Given the description of an element on the screen output the (x, y) to click on. 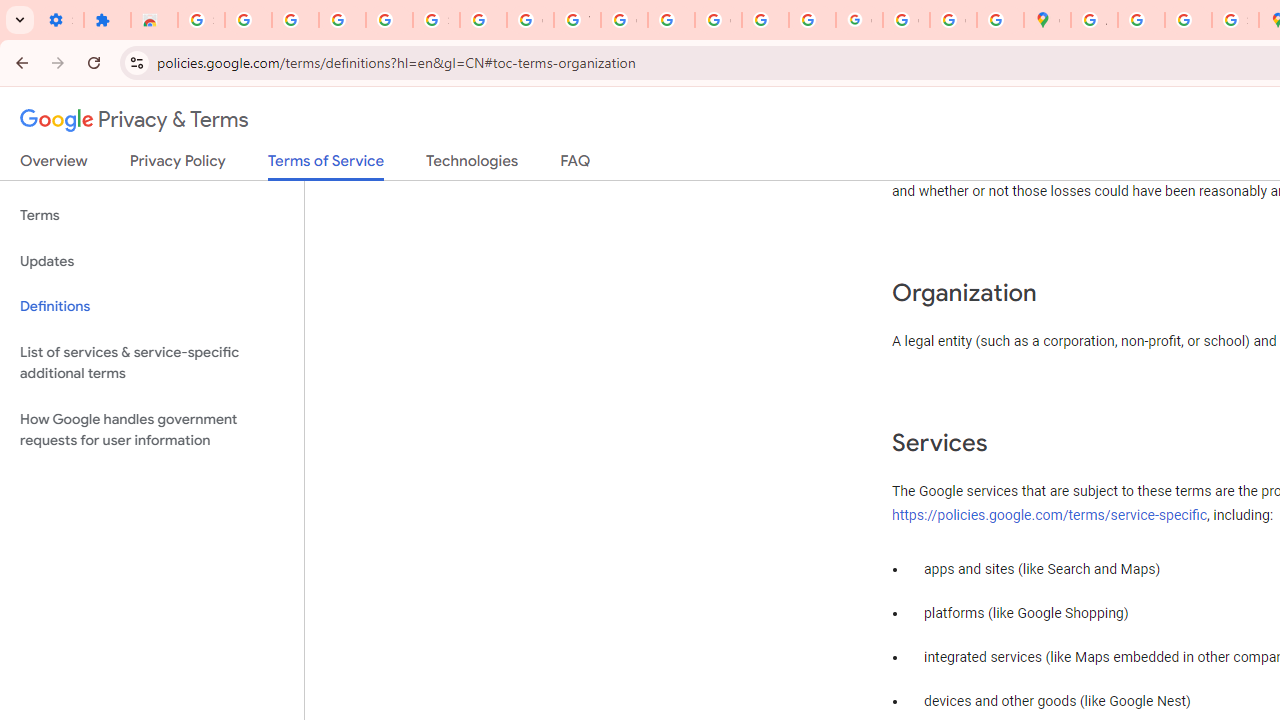
YouTube (577, 20)
https://policies.google.com/terms/service-specific (1050, 515)
Google Account (530, 20)
Updates (152, 261)
Delete photos & videos - Computer - Google Photos Help (294, 20)
Google Maps (1047, 20)
